Given the description of an element on the screen output the (x, y) to click on. 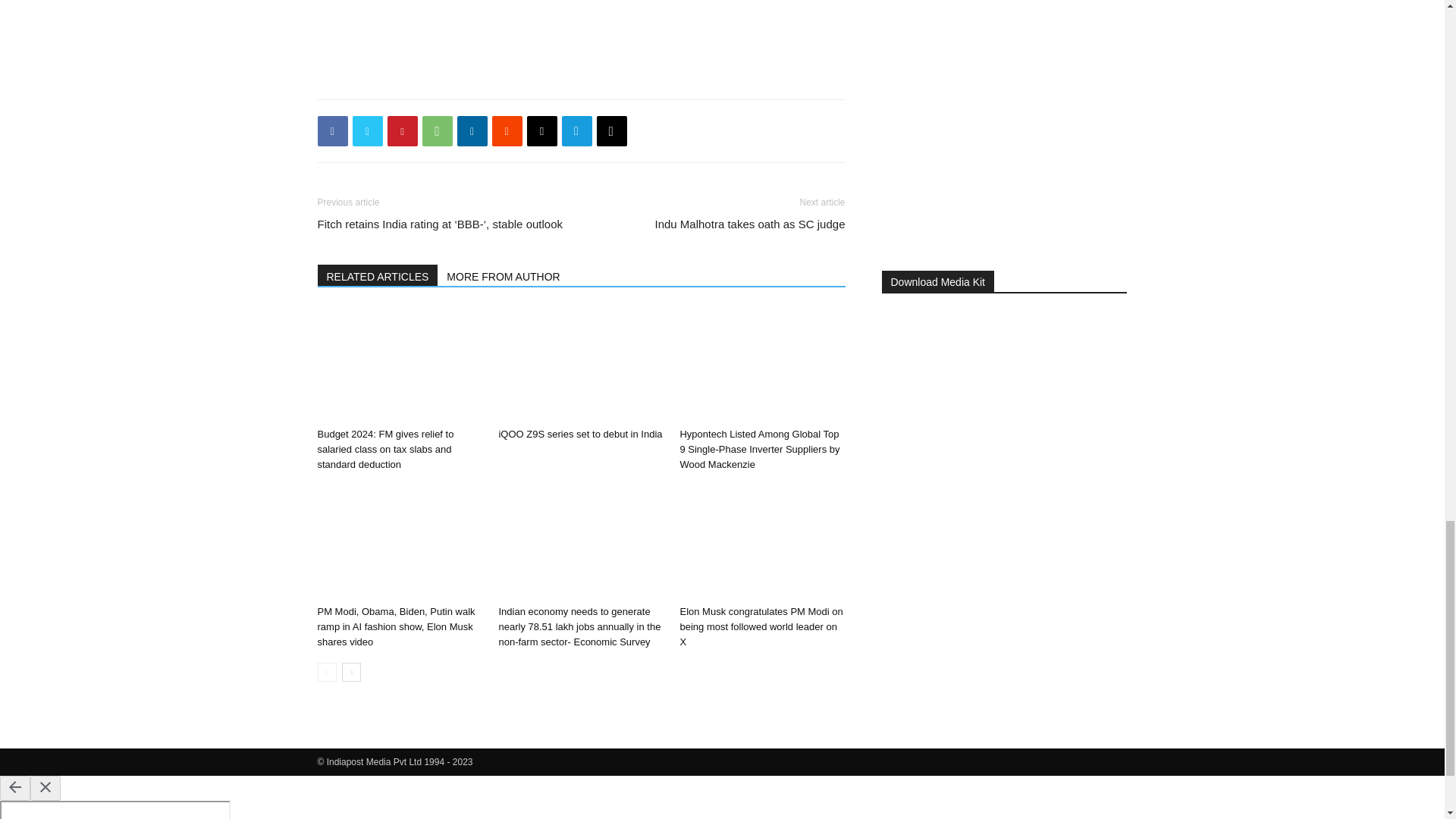
Facebook (332, 131)
Pinterest (401, 131)
Twitter (366, 131)
Linkedin (471, 131)
ReddIt (506, 131)
WhatsApp (436, 131)
Email (540, 131)
